Given the description of an element on the screen output the (x, y) to click on. 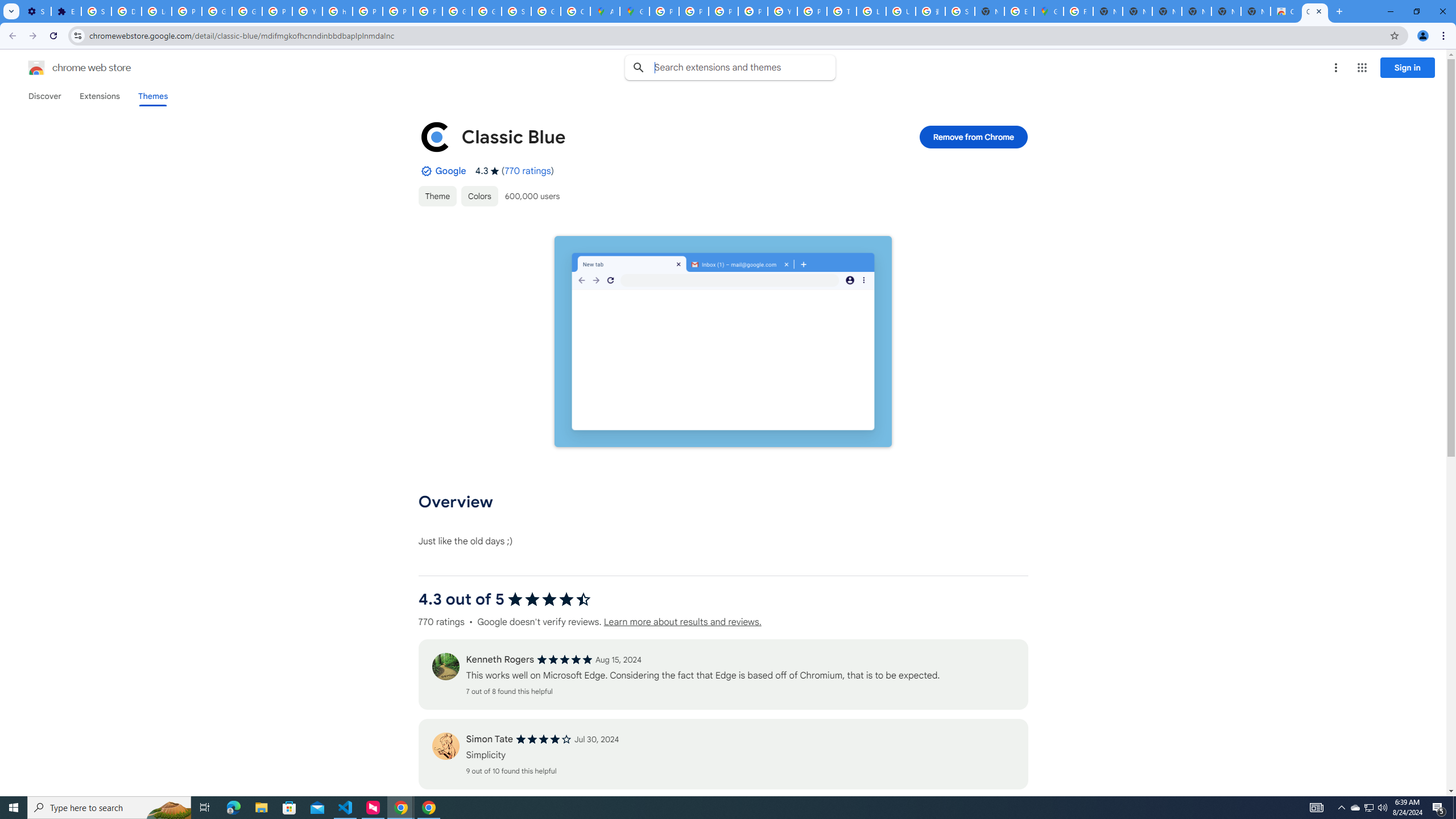
Learn more about results and reviews. (681, 622)
New Tab (1255, 11)
YouTube (306, 11)
Extensions (99, 95)
4.3 out of 5 stars (549, 599)
Chrome Web Store logo (36, 67)
Discover (43, 95)
